Given the description of an element on the screen output the (x, y) to click on. 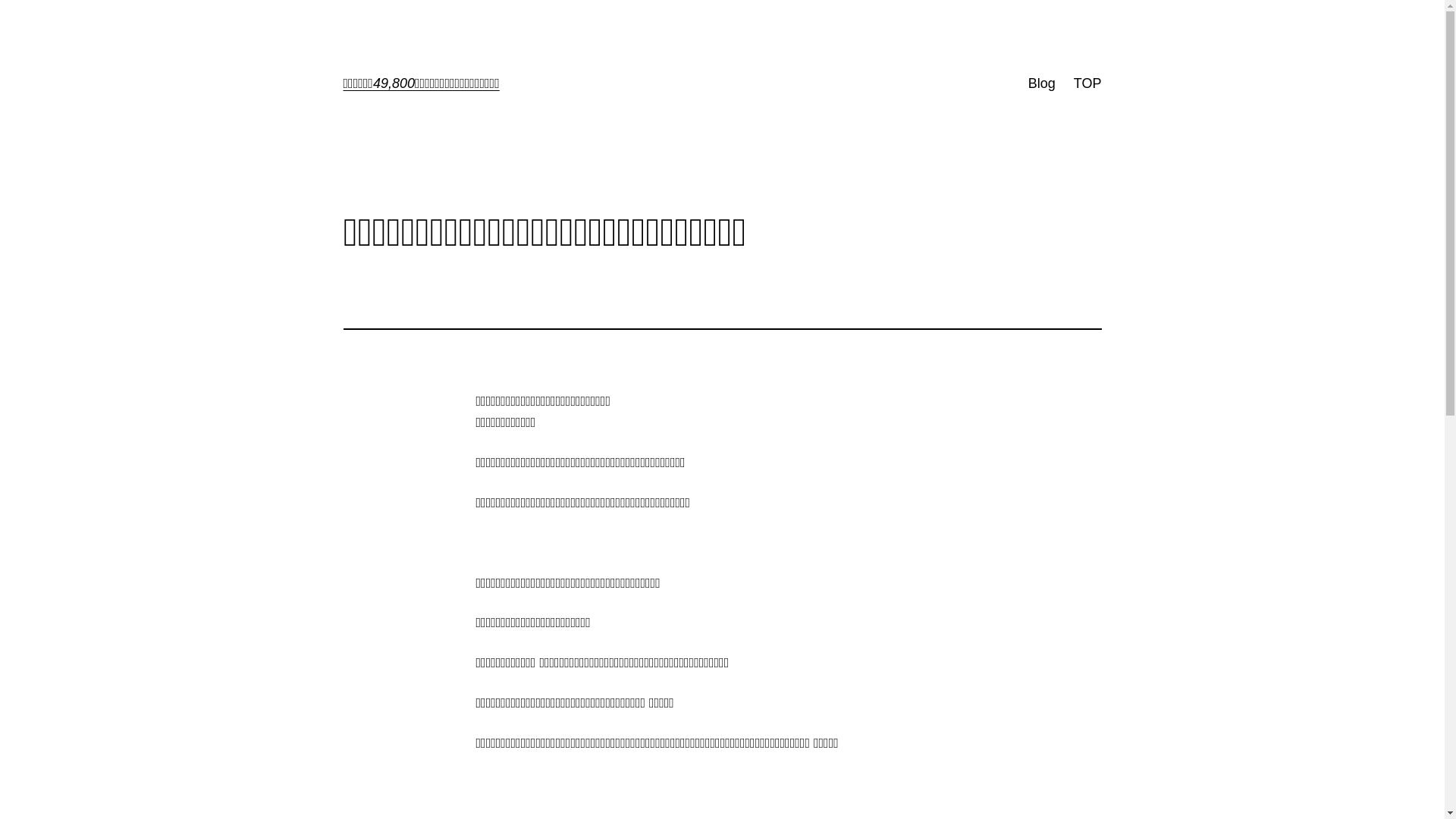
TOP Element type: text (1087, 83)
Blog Element type: text (1041, 83)
